Given the description of an element on the screen output the (x, y) to click on. 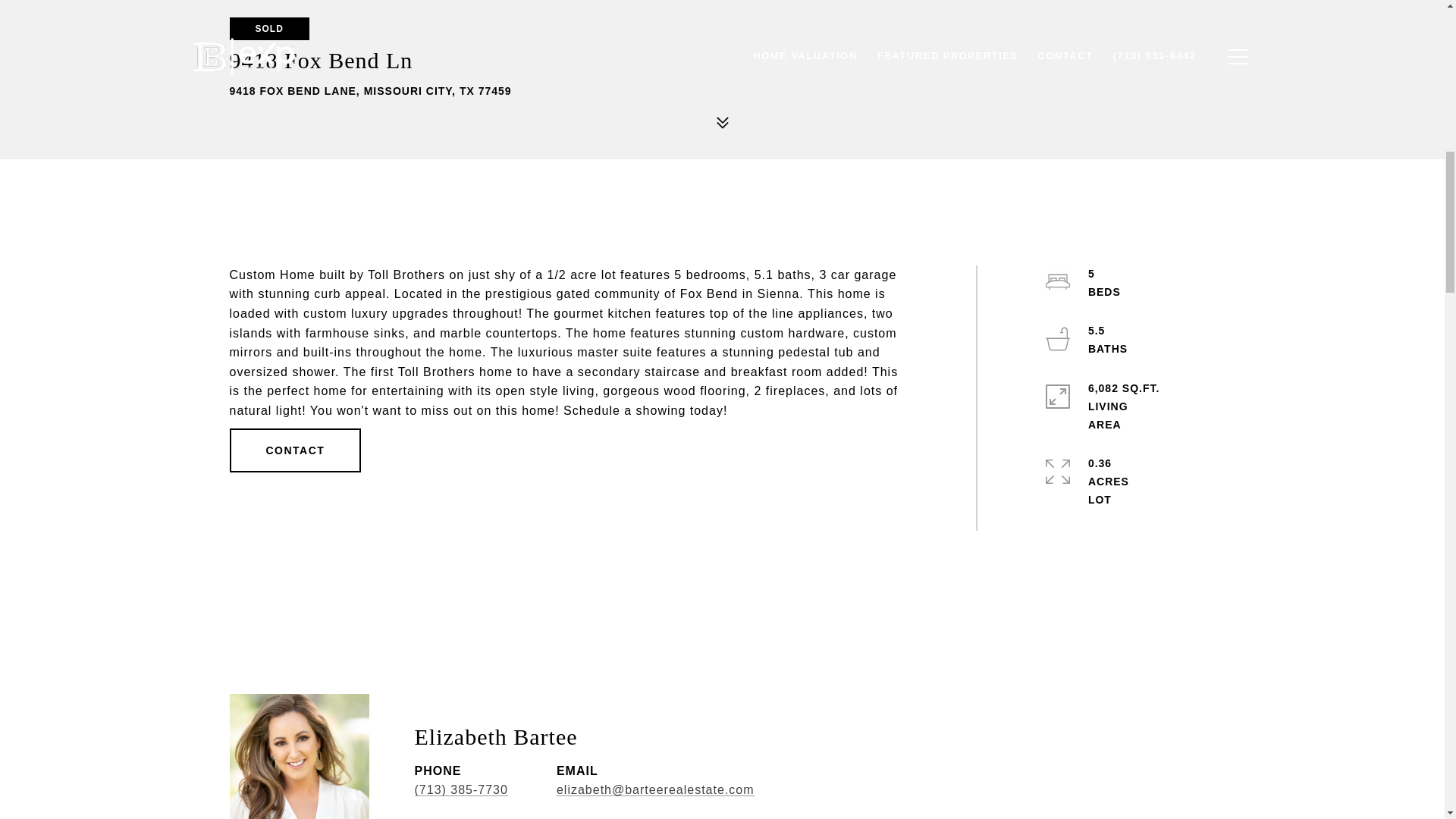
CONTACT (294, 450)
